Given the description of an element on the screen output the (x, y) to click on. 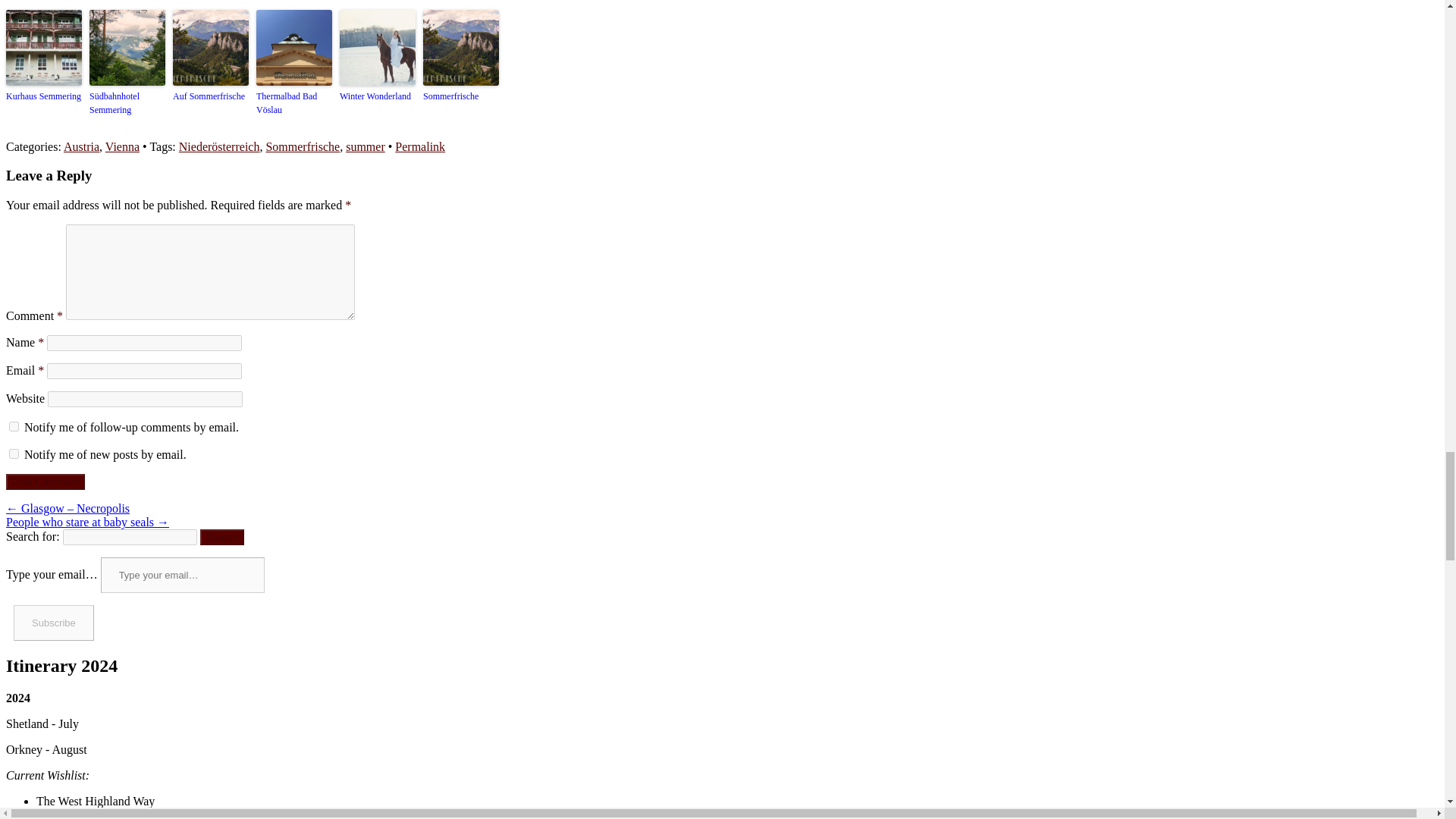
summer (365, 146)
Kurhaus Semmering (43, 96)
subscribe (13, 453)
Austria (81, 146)
Sommerfrische (301, 146)
Please fill in this field. (182, 574)
Sommerfrische (461, 96)
Post Comment (44, 481)
Winter Wonderland (376, 96)
Search (222, 537)
Auf Sommerfrische (210, 96)
Permalink (419, 146)
subscribe (13, 426)
Vienna (121, 146)
Post Comment (44, 481)
